Given the description of an element on the screen output the (x, y) to click on. 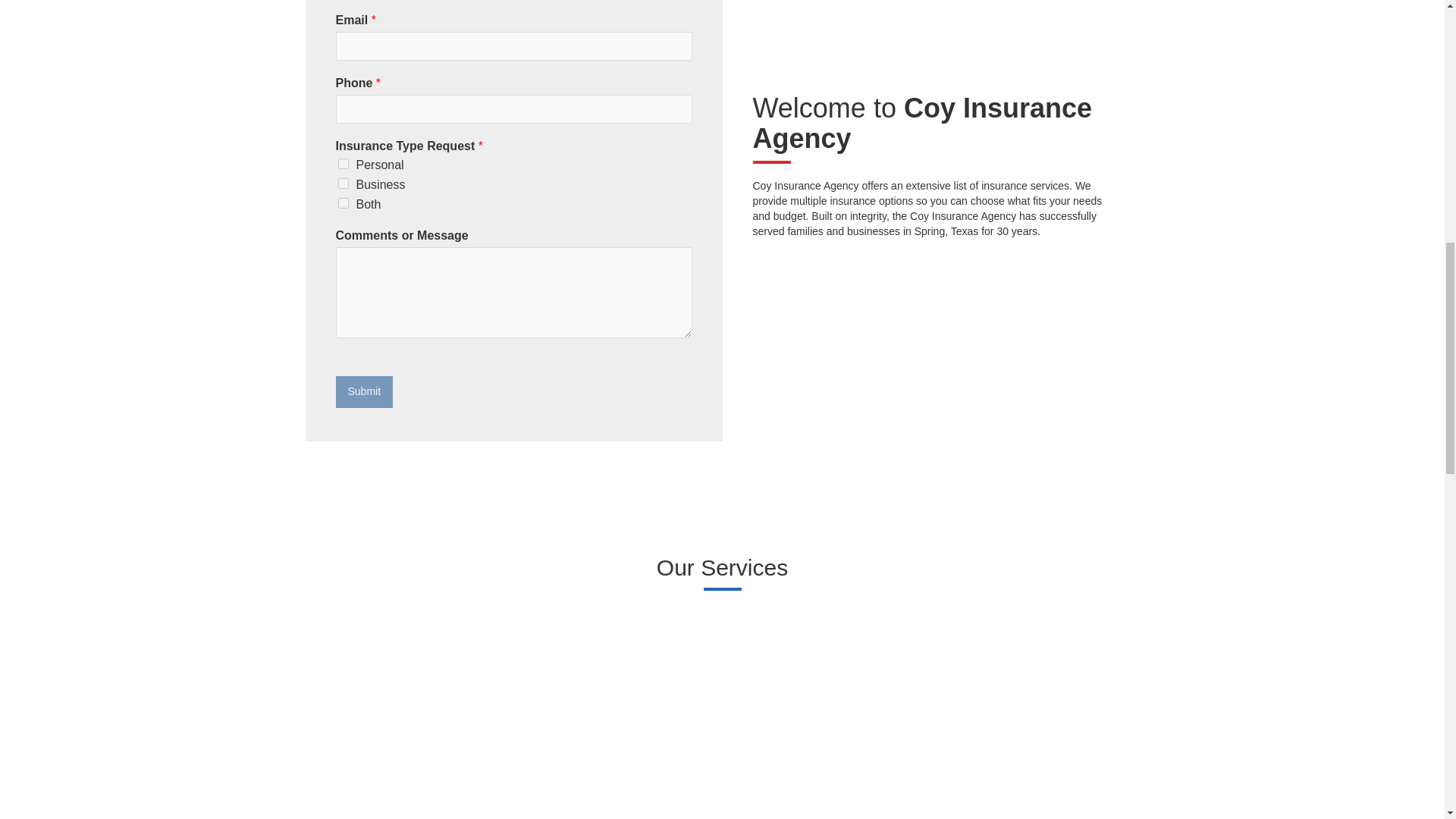
Business (343, 183)
Both (343, 203)
Personal (343, 163)
